Given the description of an element on the screen output the (x, y) to click on. 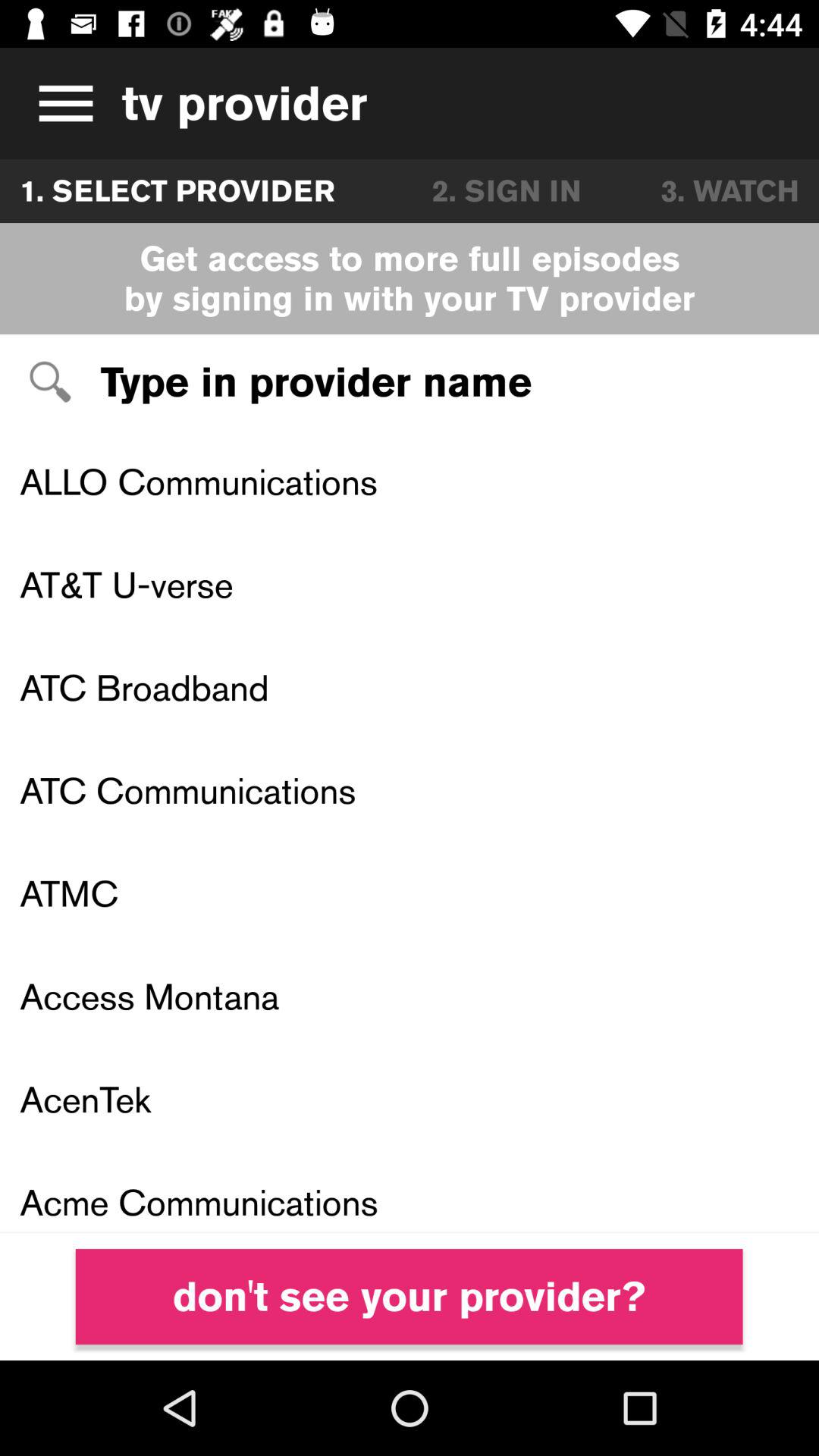
press item below allo communications icon (409, 584)
